Given the description of an element on the screen output the (x, y) to click on. 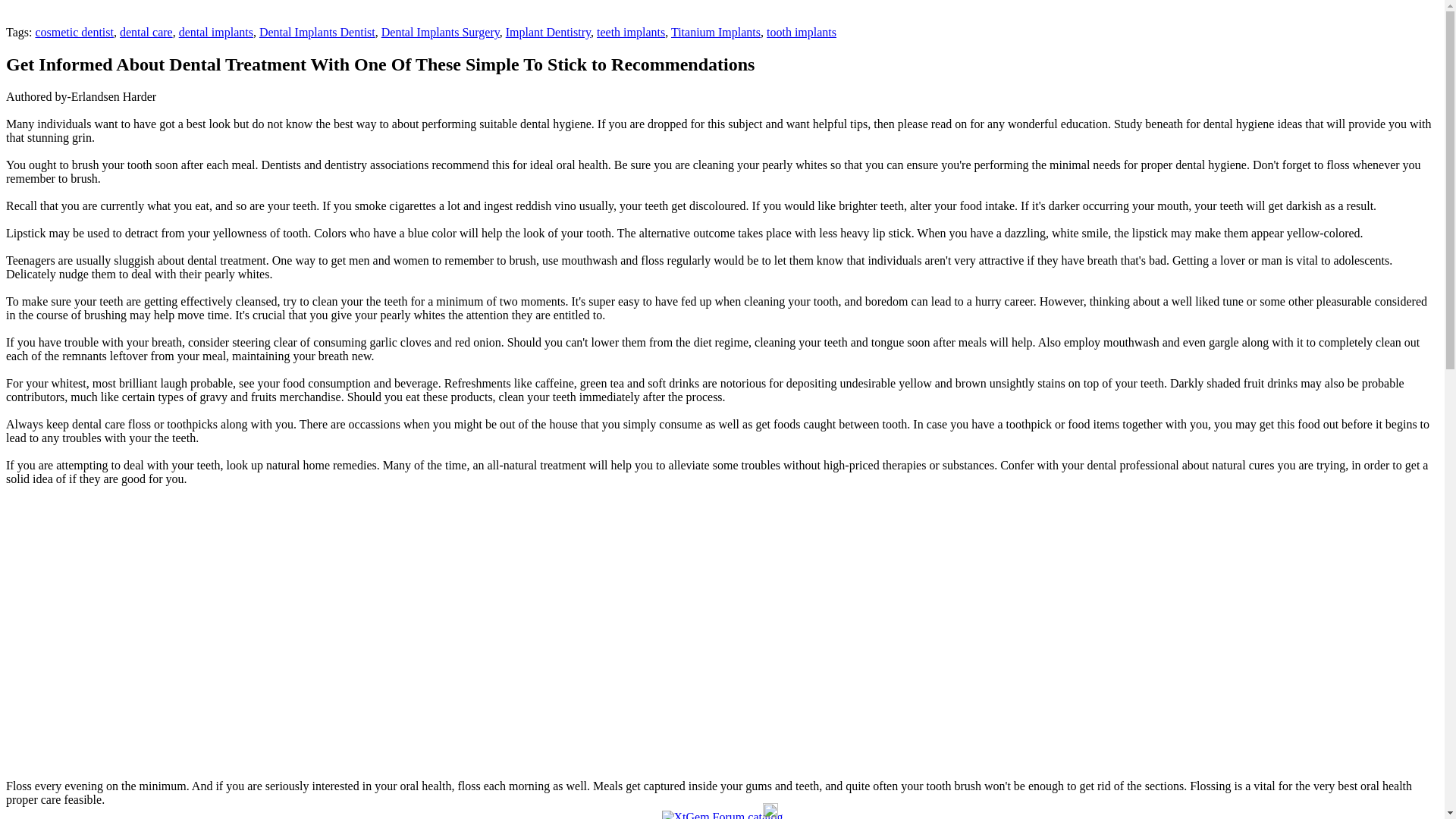
cosmetic dentist (73, 31)
teeth implants (630, 31)
dental care (146, 31)
Implant Dentistry (548, 31)
dental implants (216, 31)
Dental Implants Dentist (317, 31)
tooth implants (801, 31)
Titanium Implants (715, 31)
Dental Implants Surgery (440, 31)
YouTube video player (217, 646)
